Given the description of an element on the screen output the (x, y) to click on. 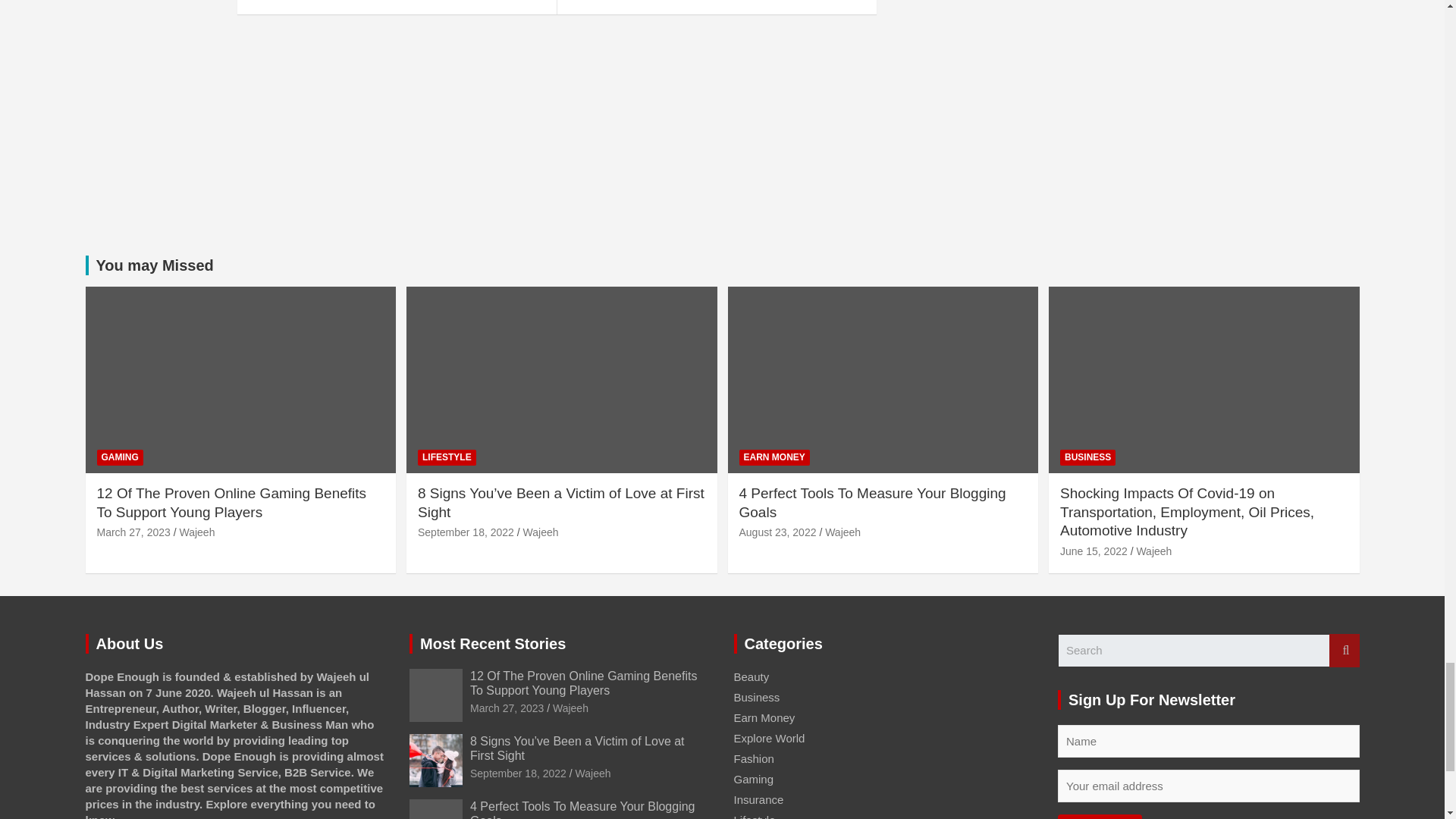
Sign up (1099, 816)
4 Perfect Tools To Measure Your Blogging Goals (776, 532)
